Given the description of an element on the screen output the (x, y) to click on. 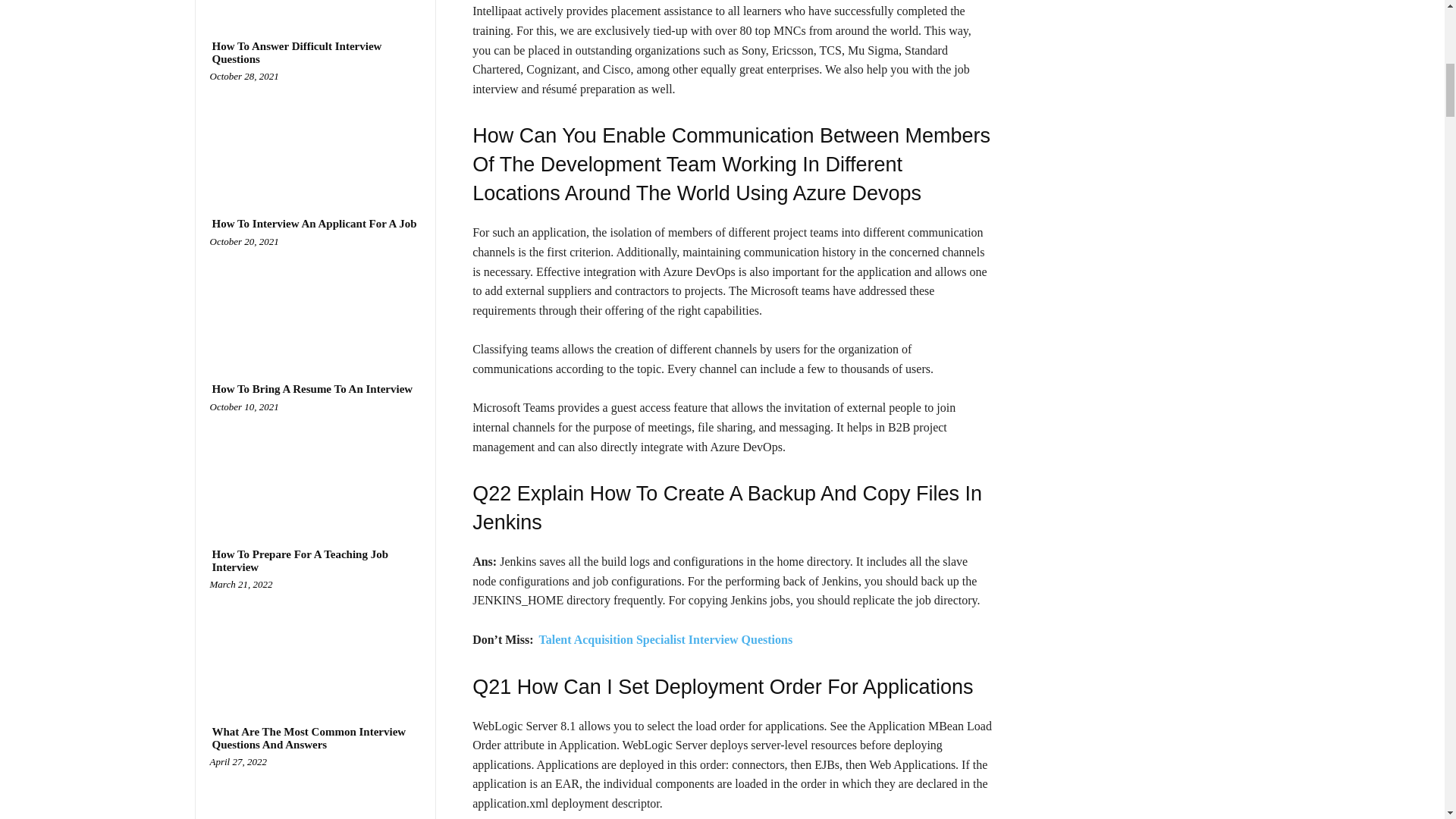
How To Interview An Applicant For A Job (314, 297)
How To Interview An Applicant For A Job (314, 223)
How To Bring A Resume To An Interview (314, 462)
How To Perform Well In A Job Interview (314, 3)
How To Answer Difficult Interview Questions (314, 52)
How To Answer Difficult Interview Questions (314, 132)
